Given the description of an element on the screen output the (x, y) to click on. 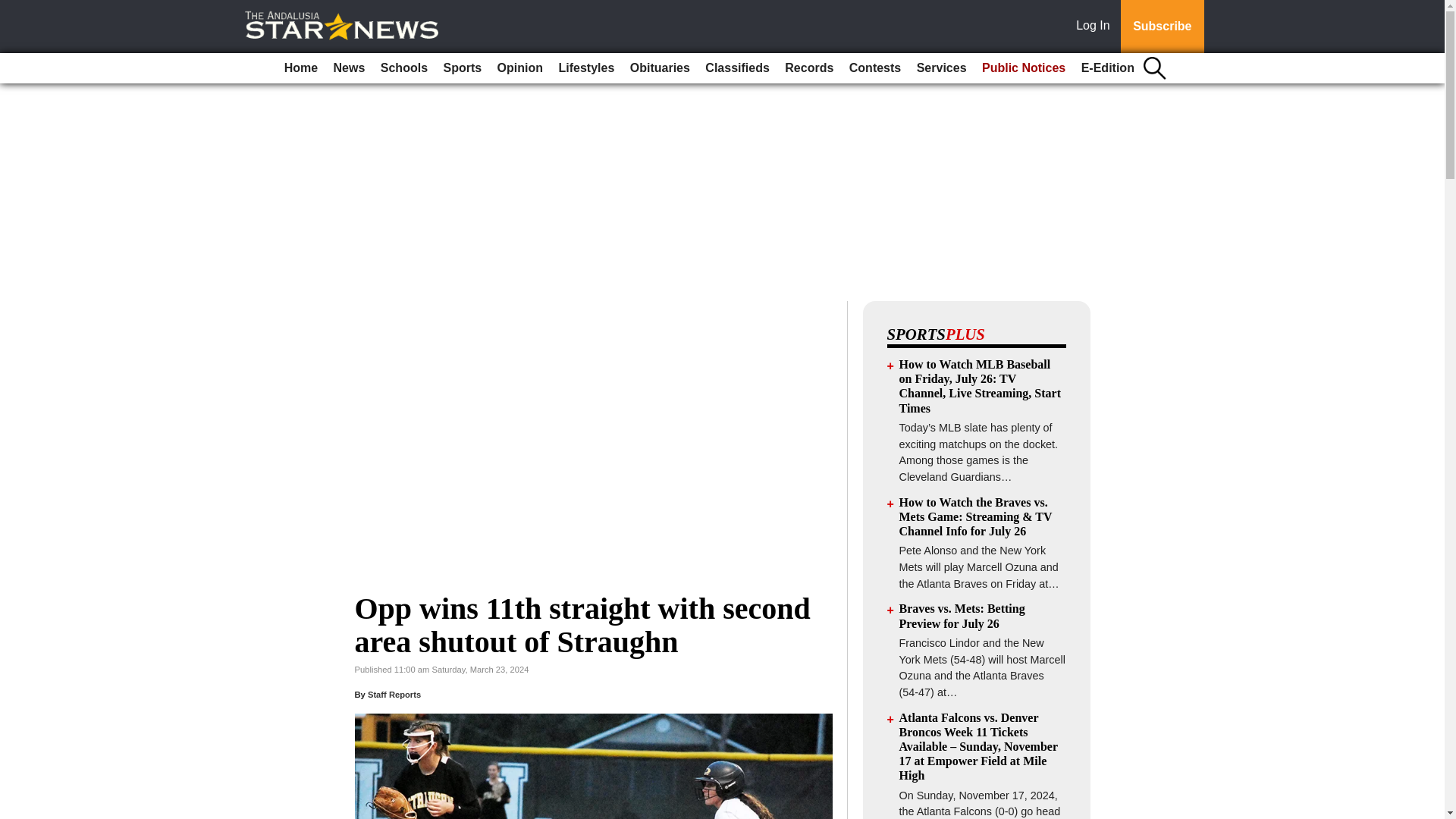
Lifestyles (585, 68)
Classifieds (736, 68)
Log In (1095, 26)
Contests (875, 68)
News (349, 68)
Home (300, 68)
Braves vs. Mets: Betting Preview for July 26 (962, 615)
Go (13, 9)
Obituaries (659, 68)
Subscribe (1162, 26)
Services (941, 68)
Schools (403, 68)
Opinion (520, 68)
Sports (461, 68)
Public Notices (1023, 68)
